Given the description of an element on the screen output the (x, y) to click on. 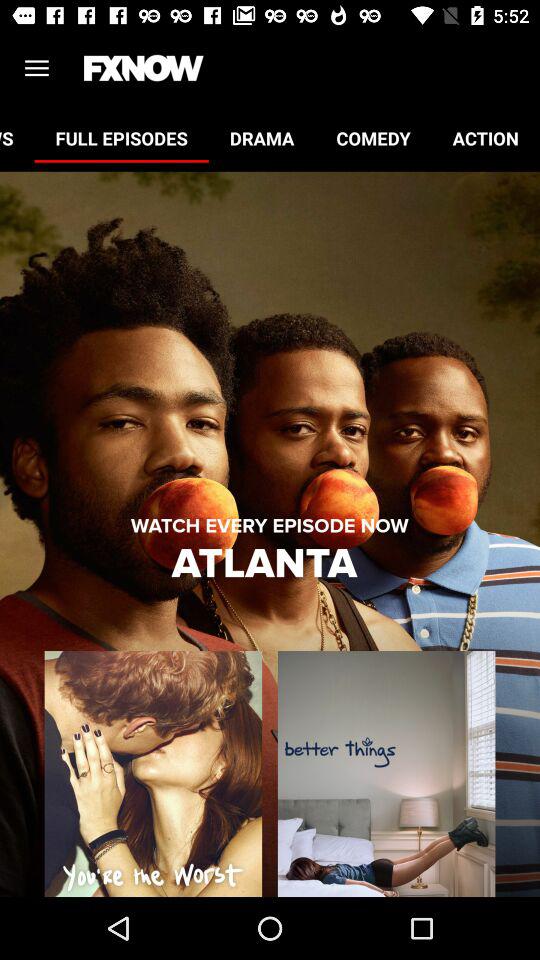
press item below the watch every episode item (269, 563)
